Given the description of an element on the screen output the (x, y) to click on. 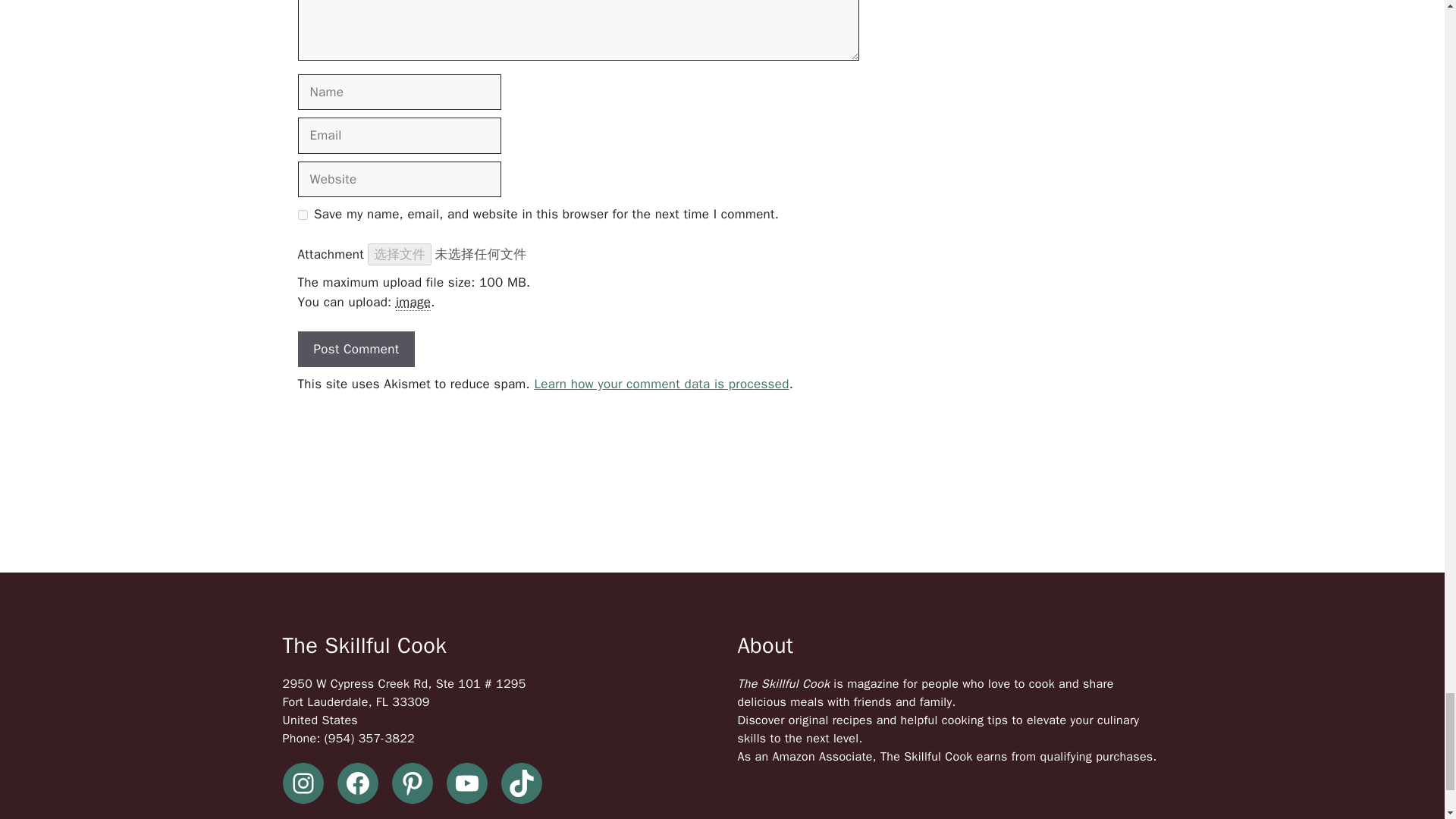
yes (302, 214)
Post Comment (355, 349)
